Given the description of an element on the screen output the (x, y) to click on. 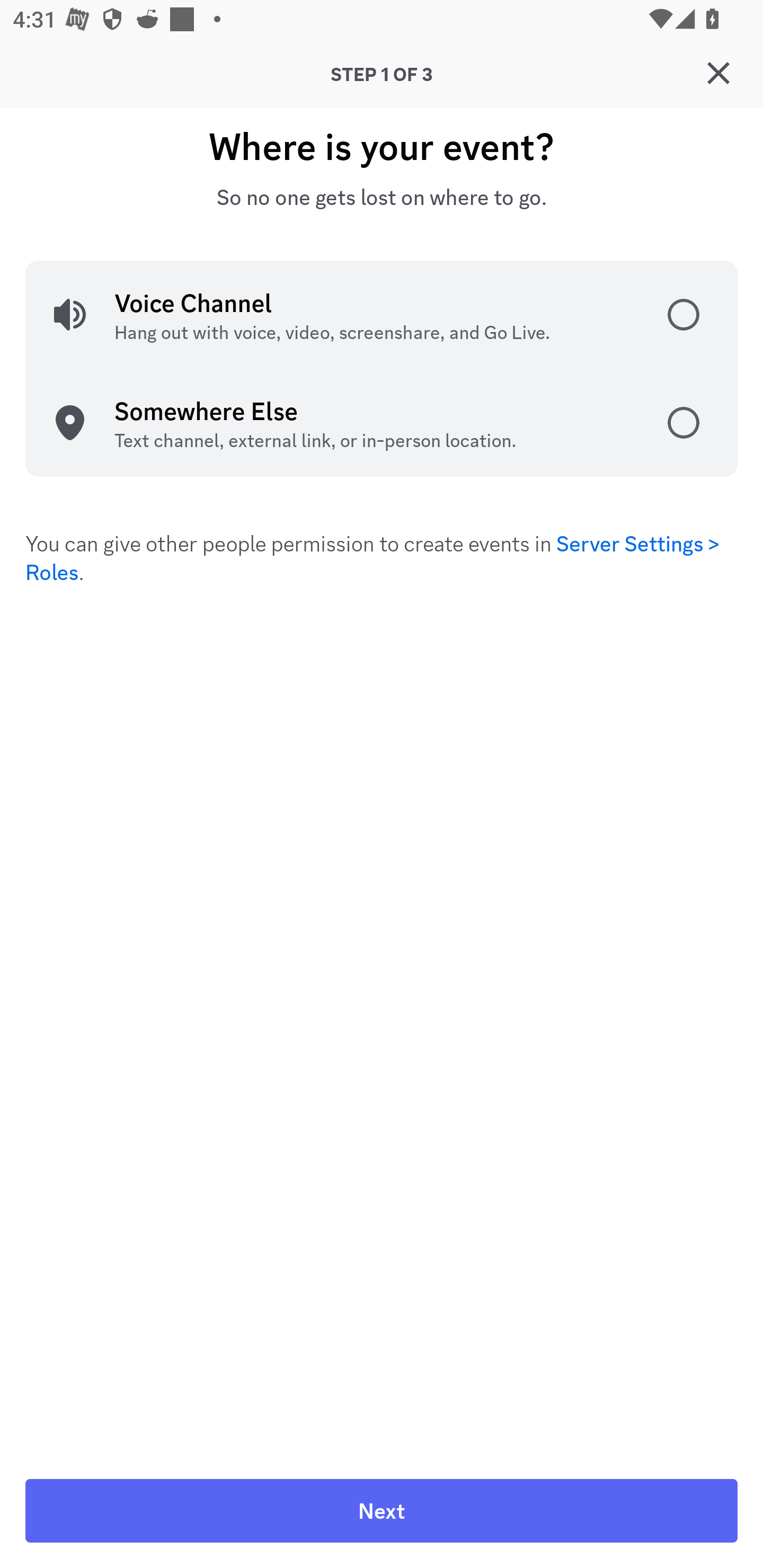
Close (718, 72)
Search (373, 165)
Text Channels (412, 404)
Next (381, 1510)
